Given the description of an element on the screen output the (x, y) to click on. 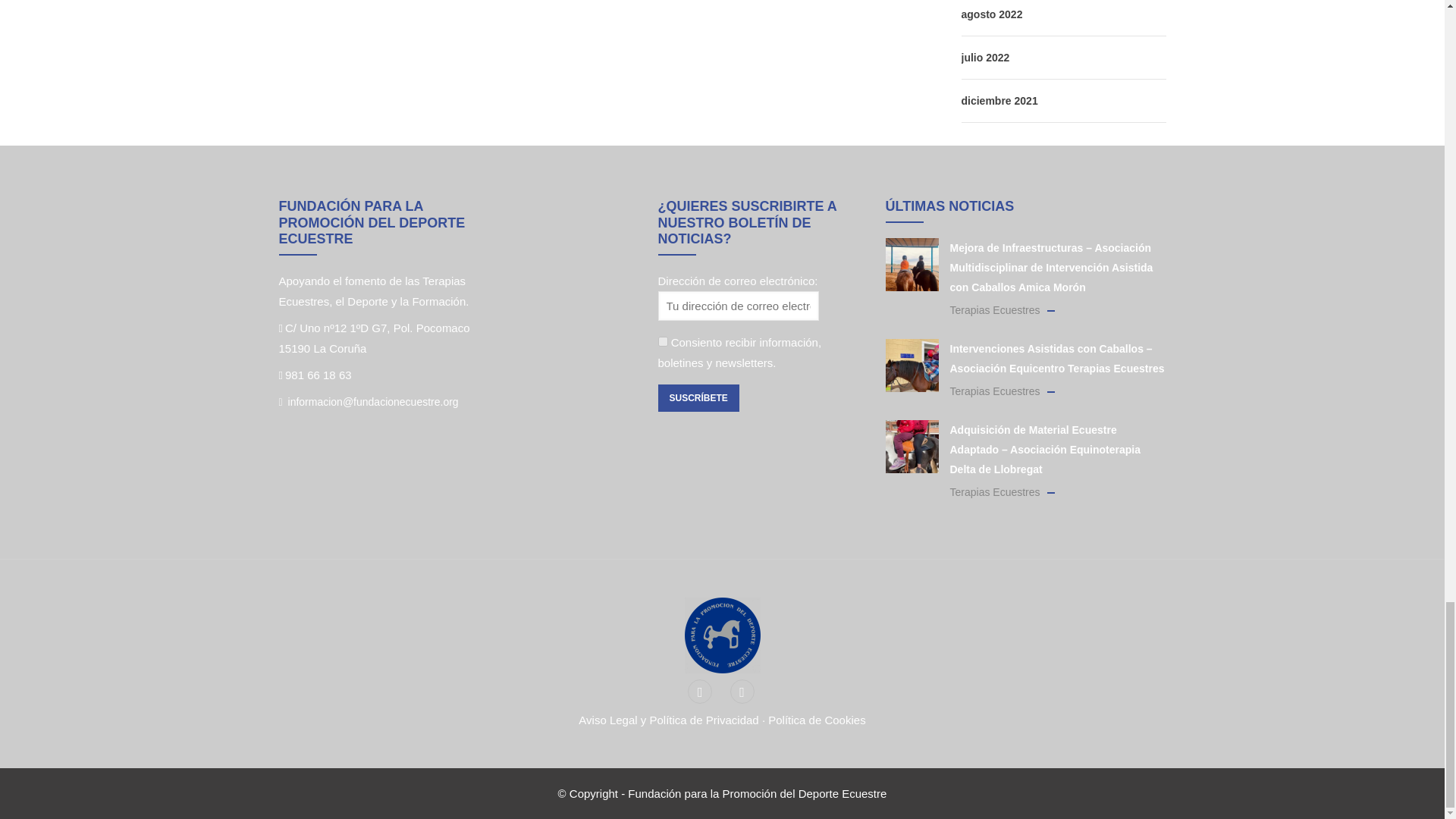
1 (663, 341)
